Given the description of an element on the screen output the (x, y) to click on. 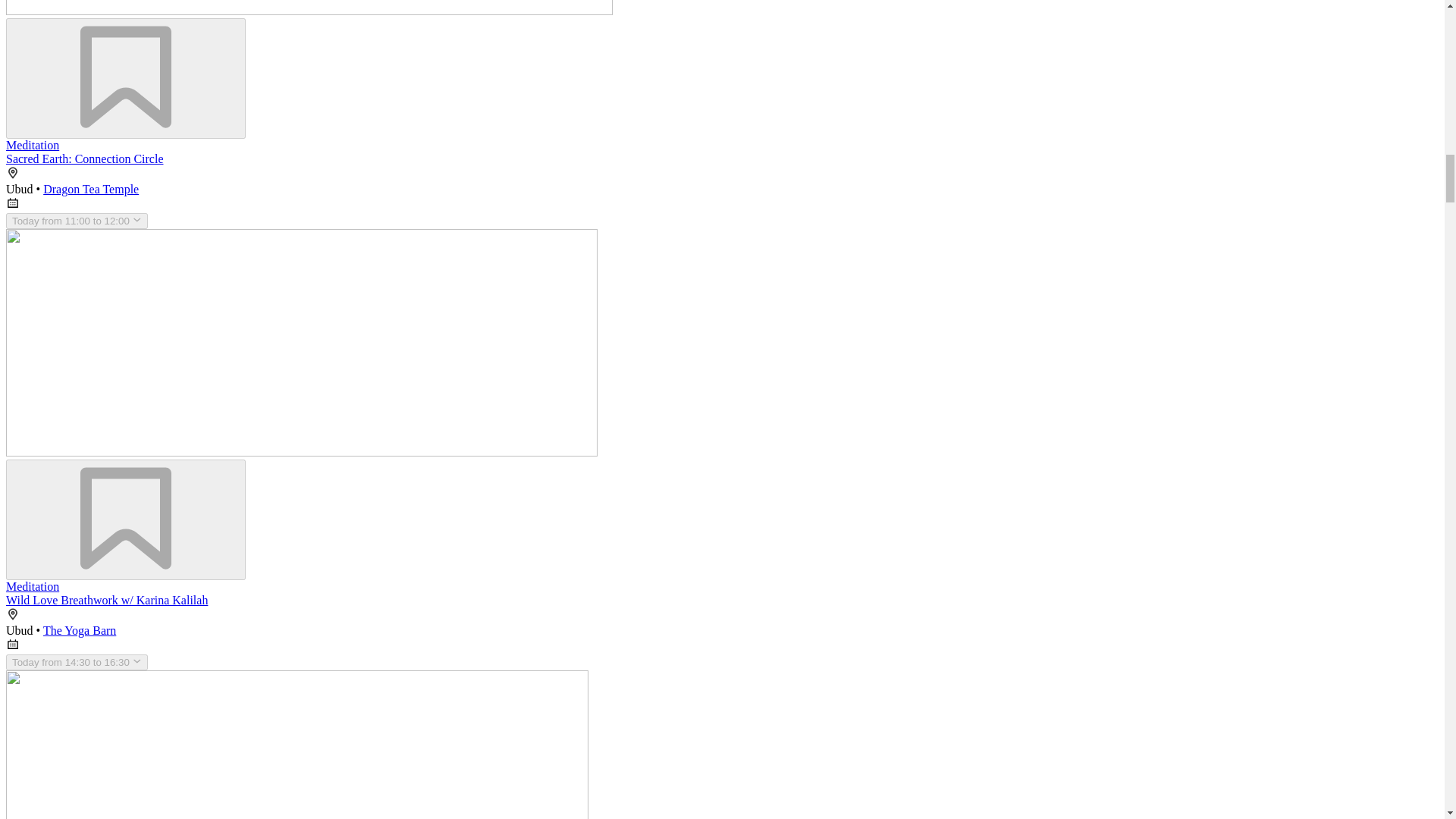
Meditation (32, 585)
Meditation (32, 144)
Dragon Tea Temple (90, 188)
Sacred Earth: Connection Circle (84, 158)
Today from 11:00 to 12:00 (76, 220)
